Given the description of an element on the screen output the (x, y) to click on. 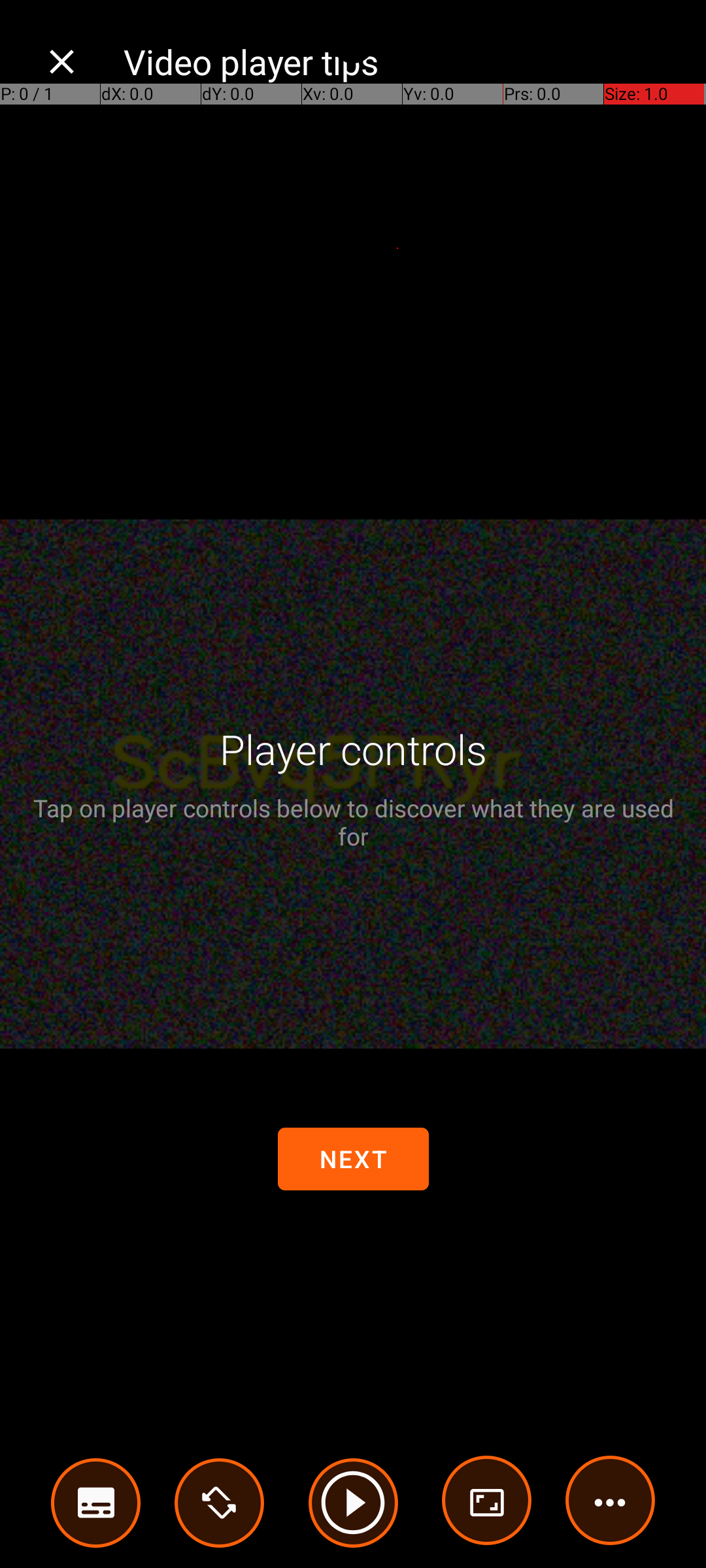
Video player. Tap to show controls. Tap the back button to hide them Element type: android.widget.FrameLayout (353, 784)
Video player tips Element type: android.widget.TextView (400, 61)
Player controls Element type: android.widget.TextView (353, 748)
Tap on player controls below to discover what they are used for Element type: android.widget.TextView (352, 821)
advanced options Element type: android.widget.ImageView (486, 1502)
